Given the description of an element on the screen output the (x, y) to click on. 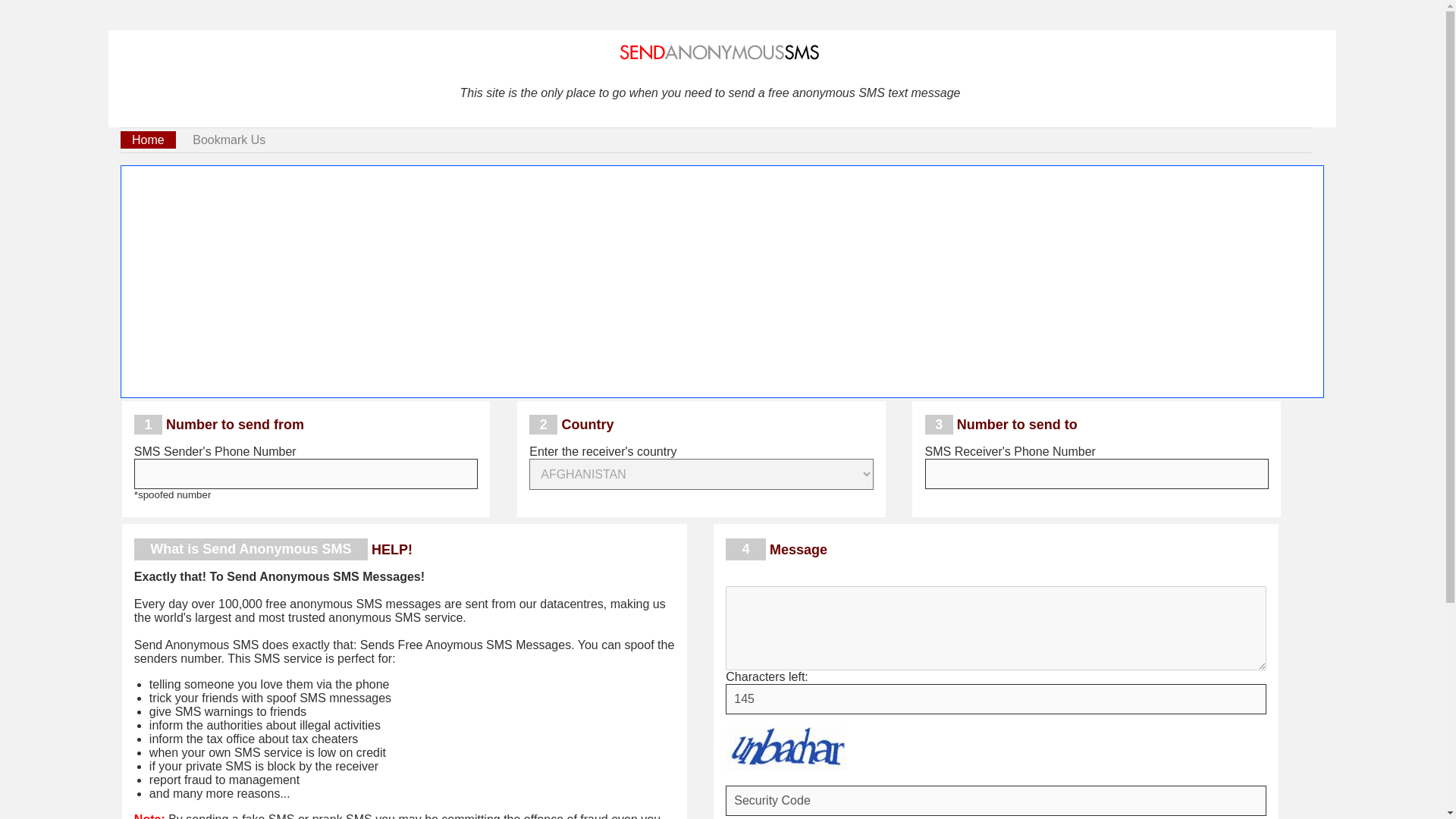
Bookmark Us (228, 139)
Security Code (995, 800)
145 (995, 698)
Home (148, 139)
Home (148, 139)
